Given the description of an element on the screen output the (x, y) to click on. 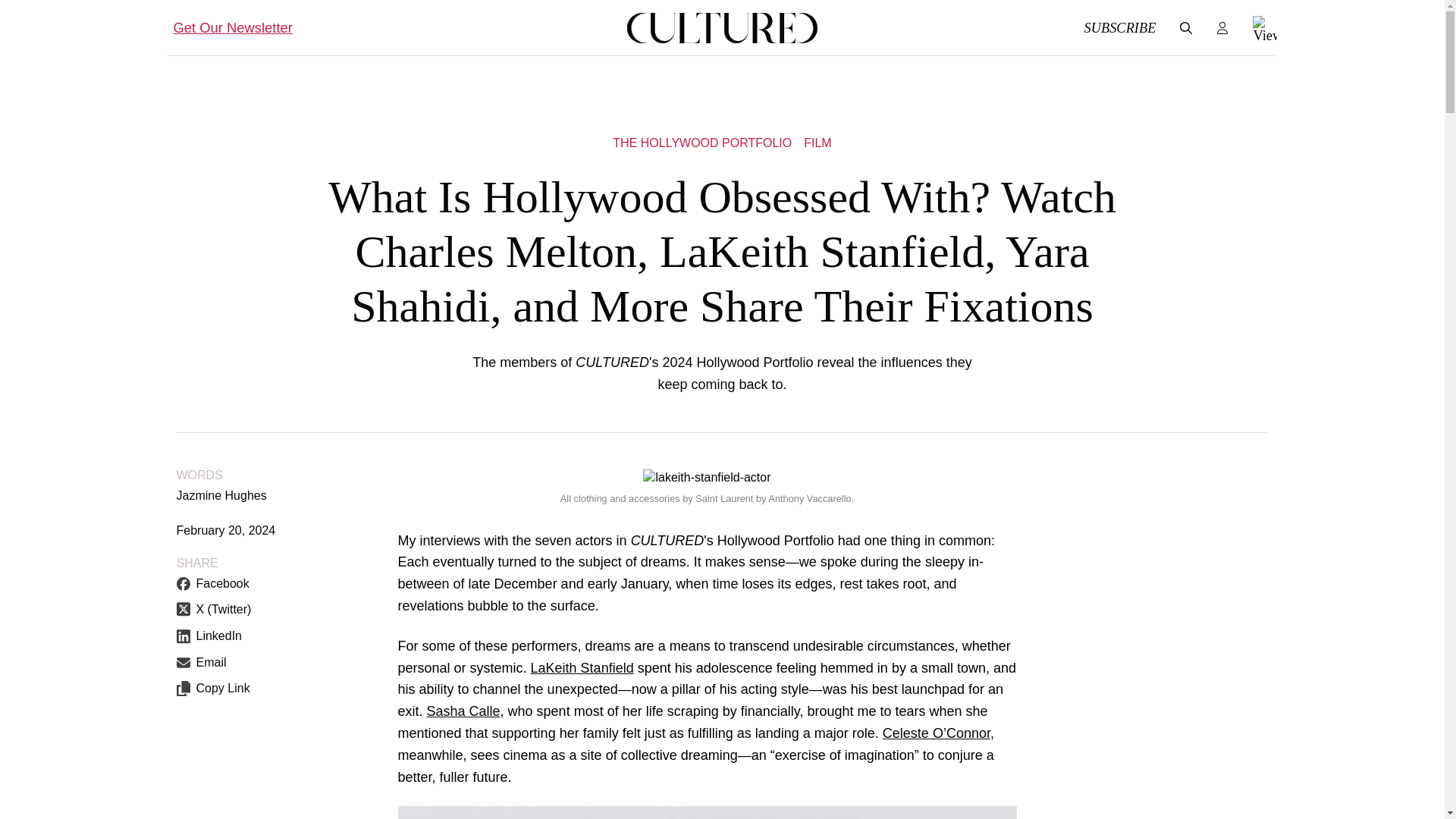
Share on LinkedIn (208, 636)
SUBSCRIBE (1119, 27)
Share via email (200, 662)
Get Our Newsletter (232, 27)
Share on Facebook (212, 583)
Share on Twitter (213, 609)
